Given the description of an element on the screen output the (x, y) to click on. 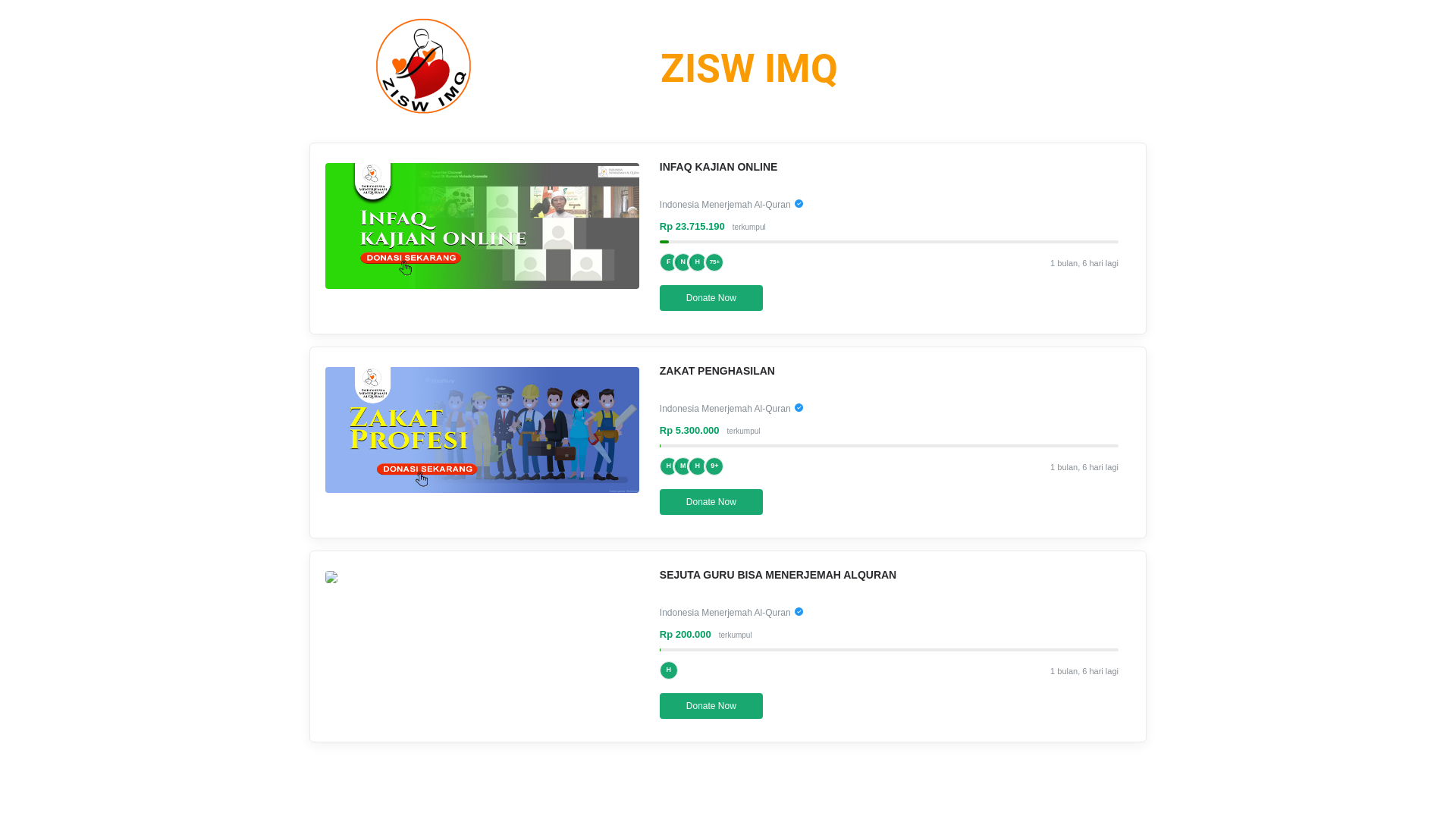
Donate Now Element type: text (710, 297)
0.14722222222222% Element type: hover (659, 445)
Donate Now Element type: text (710, 501)
1.9762658333333% Element type: hover (663, 240)
Donate Now Element type: text (710, 705)
